Given the description of an element on the screen output the (x, y) to click on. 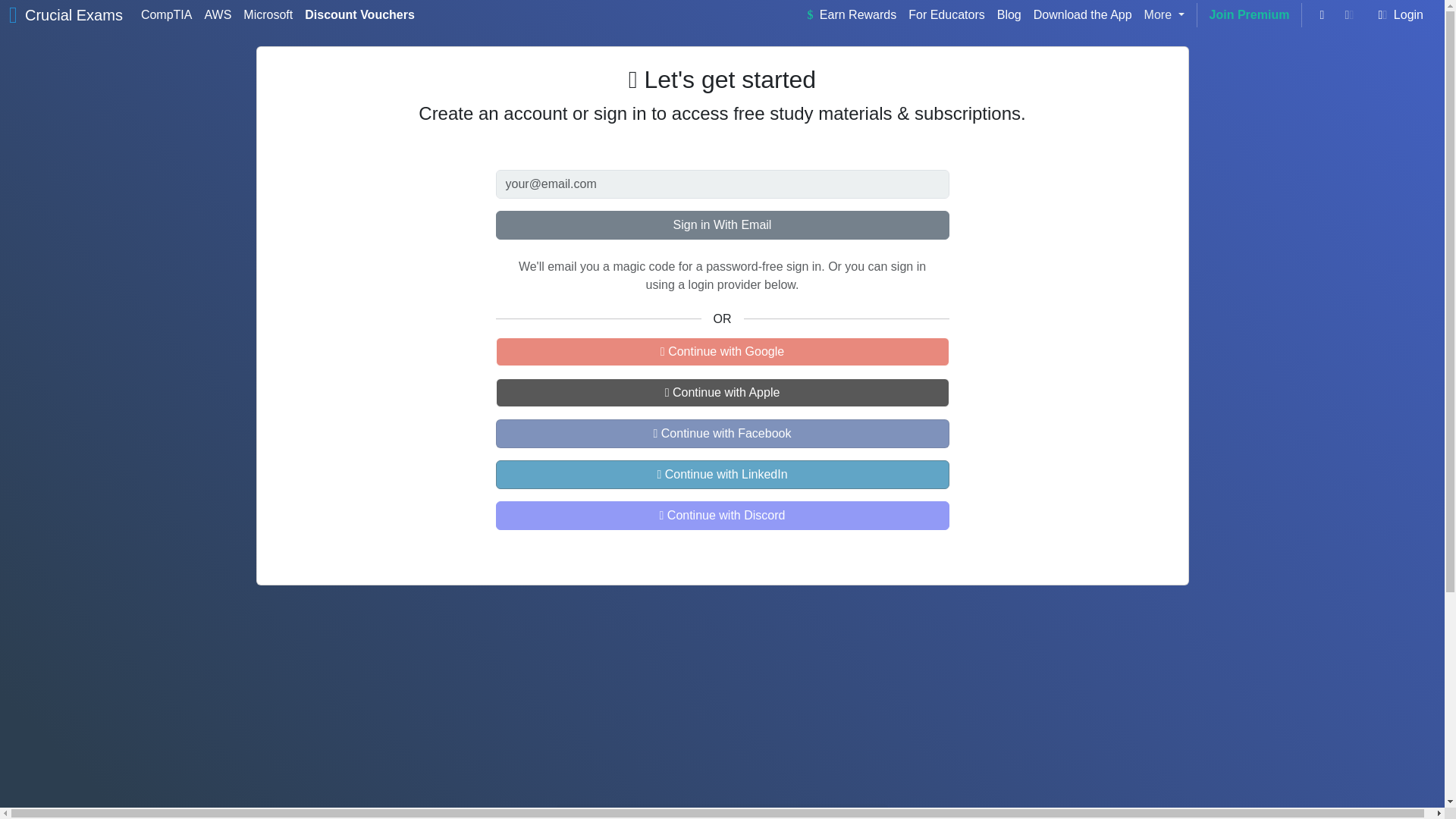
Continue with Apple (722, 392)
Discount Vouchers (359, 15)
Continue with LinkedIn (722, 474)
Log in using your LinkedIn account (722, 474)
Join Premium (1249, 15)
PMP Ready (719, 818)
CompTIA (166, 15)
Log in using your Google account (722, 351)
Log in using your Discord account (722, 515)
Sign in With Email (722, 224)
Crucial Exams (73, 14)
Sign in With Email (722, 224)
Download the App (1082, 15)
Blog (1009, 15)
